Given the description of an element on the screen output the (x, y) to click on. 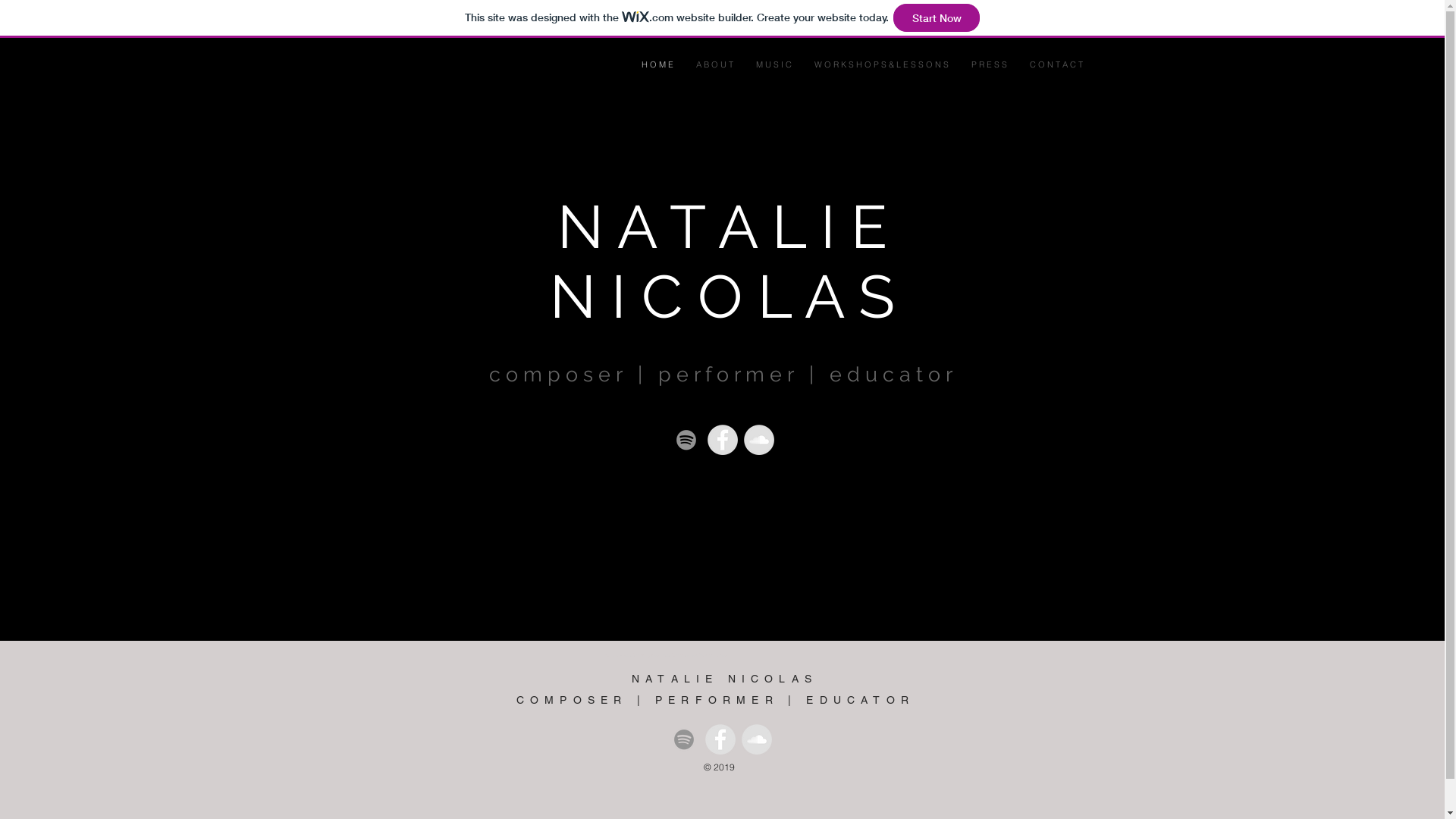
P R E S S Element type: text (989, 64)
W O R K S H O P S & L E S S O N S Element type: text (880, 64)
A B O U T Element type: text (713, 64)
C O N T A C T Element type: text (1055, 64)
M U S I C Element type: text (773, 64)
H O M E Element type: text (656, 64)
